Given the description of an element on the screen output the (x, y) to click on. 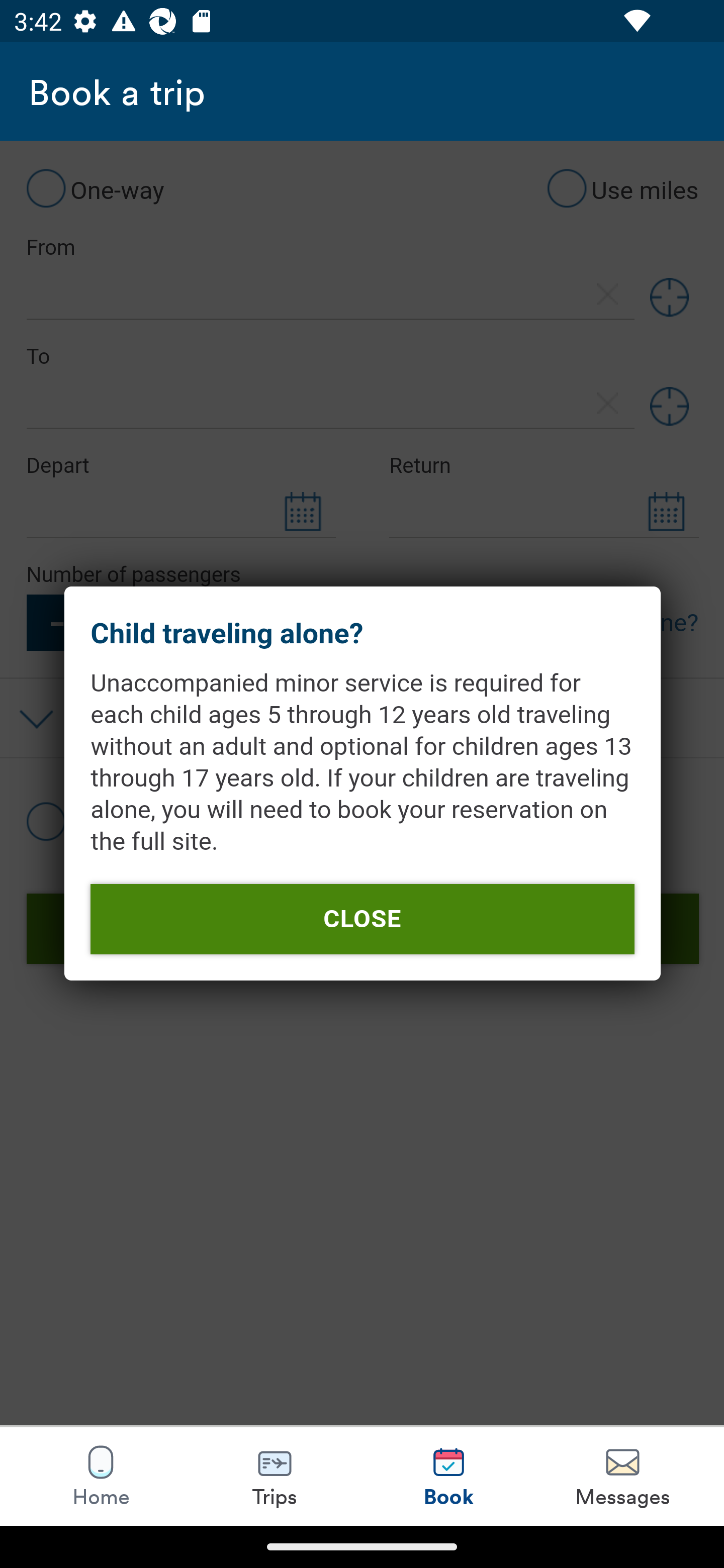
Close (361, 918)
Home (100, 1475)
Trips (275, 1475)
Book (448, 1475)
Messages (622, 1475)
